Given the description of an element on the screen output the (x, y) to click on. 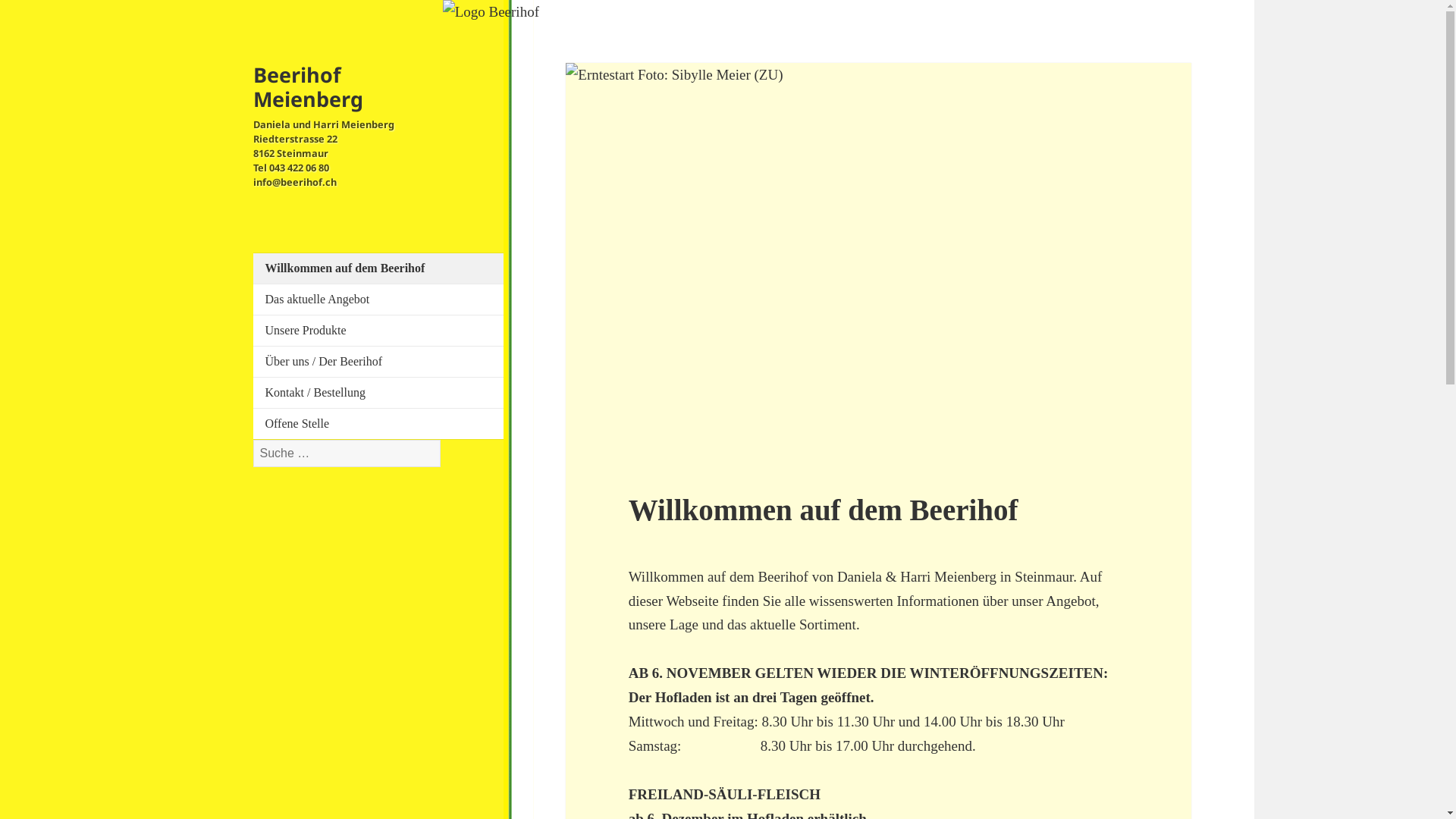
Unsere Produkte Element type: text (384, 330)
Offene Stelle Element type: text (384, 423)
Beerihof Meienberg Element type: text (308, 86)
Logo Beerihof Element type: hover (490, 12)
Suche Element type: text (439, 439)
info@beerihof.ch Element type: text (294, 181)
Willkommen auf dem Beerihof Element type: text (384, 268)
Kontakt / Bestellung Element type: text (384, 392)
Das aktuelle Angebot Element type: text (384, 299)
